Given the description of an element on the screen output the (x, y) to click on. 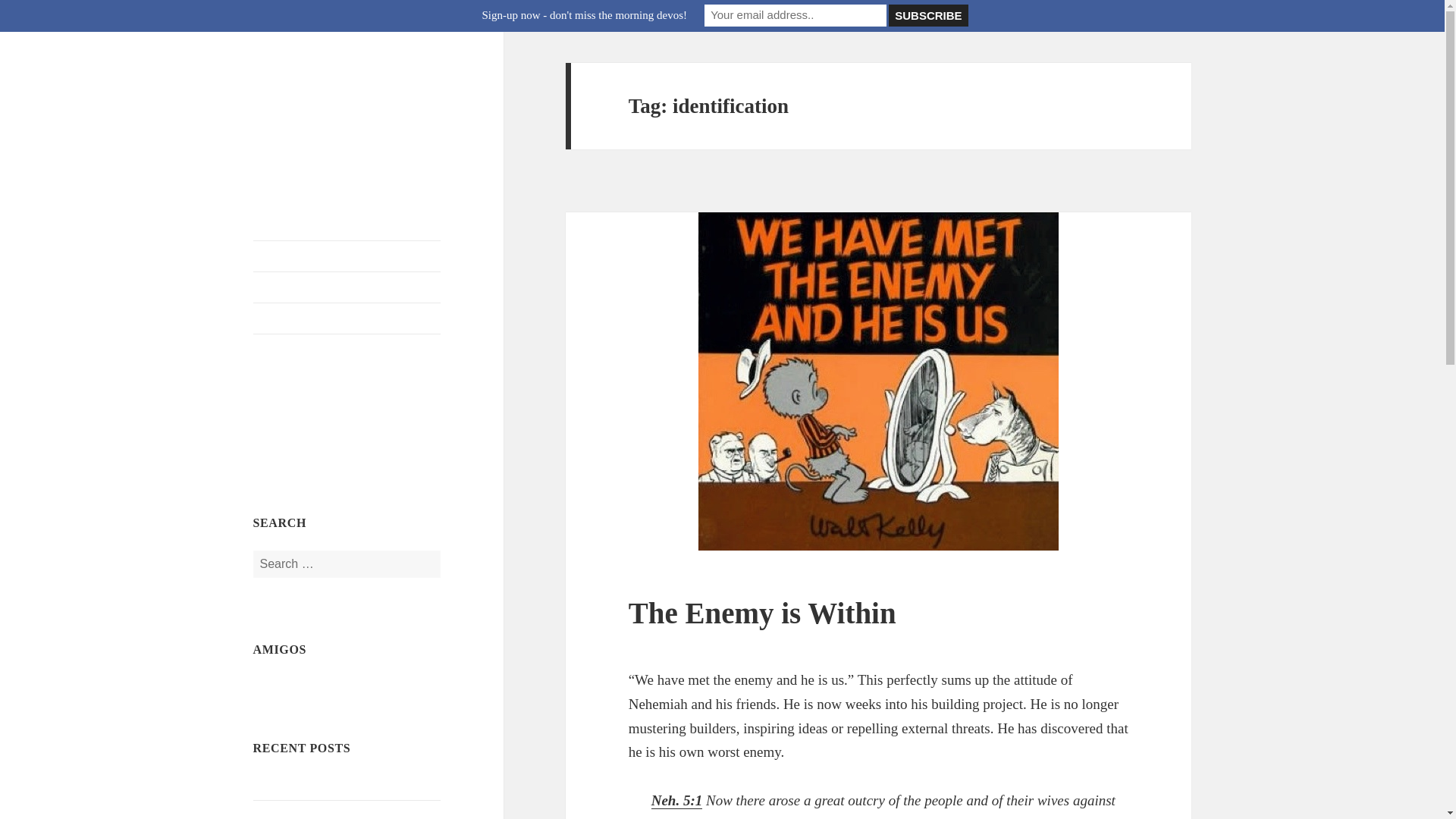
Linked In (421, 415)
Instagram (307, 452)
Blog (347, 255)
Bio (347, 318)
Vimeo (383, 415)
Nehemiah 5:1 (676, 800)
The Enemy is Within (762, 613)
